Given the description of an element on the screen output the (x, y) to click on. 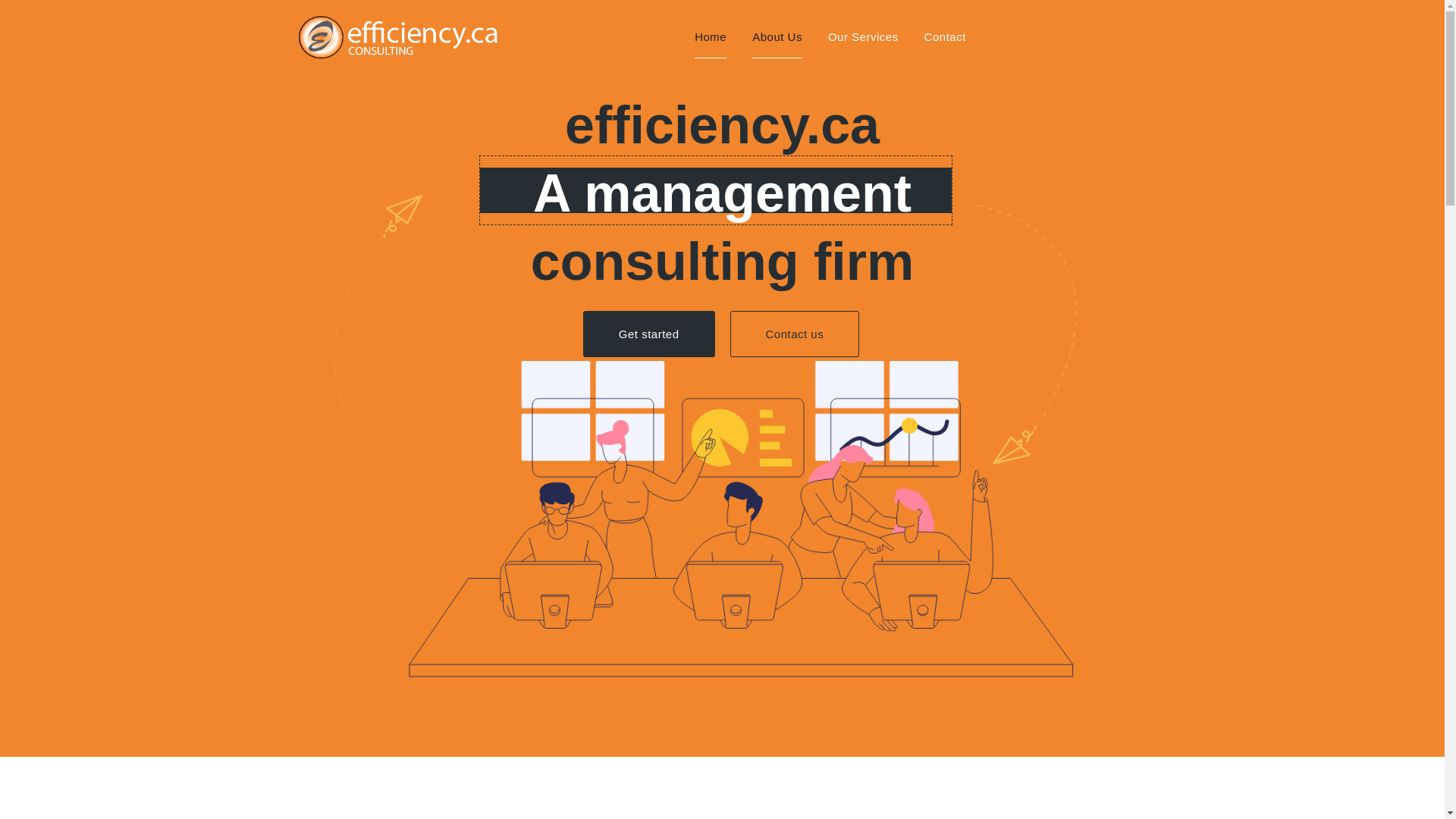
About Us (777, 36)
Contact (945, 36)
Our Services (863, 36)
Get started (648, 334)
Contact us (794, 334)
